Given the description of an element on the screen output the (x, y) to click on. 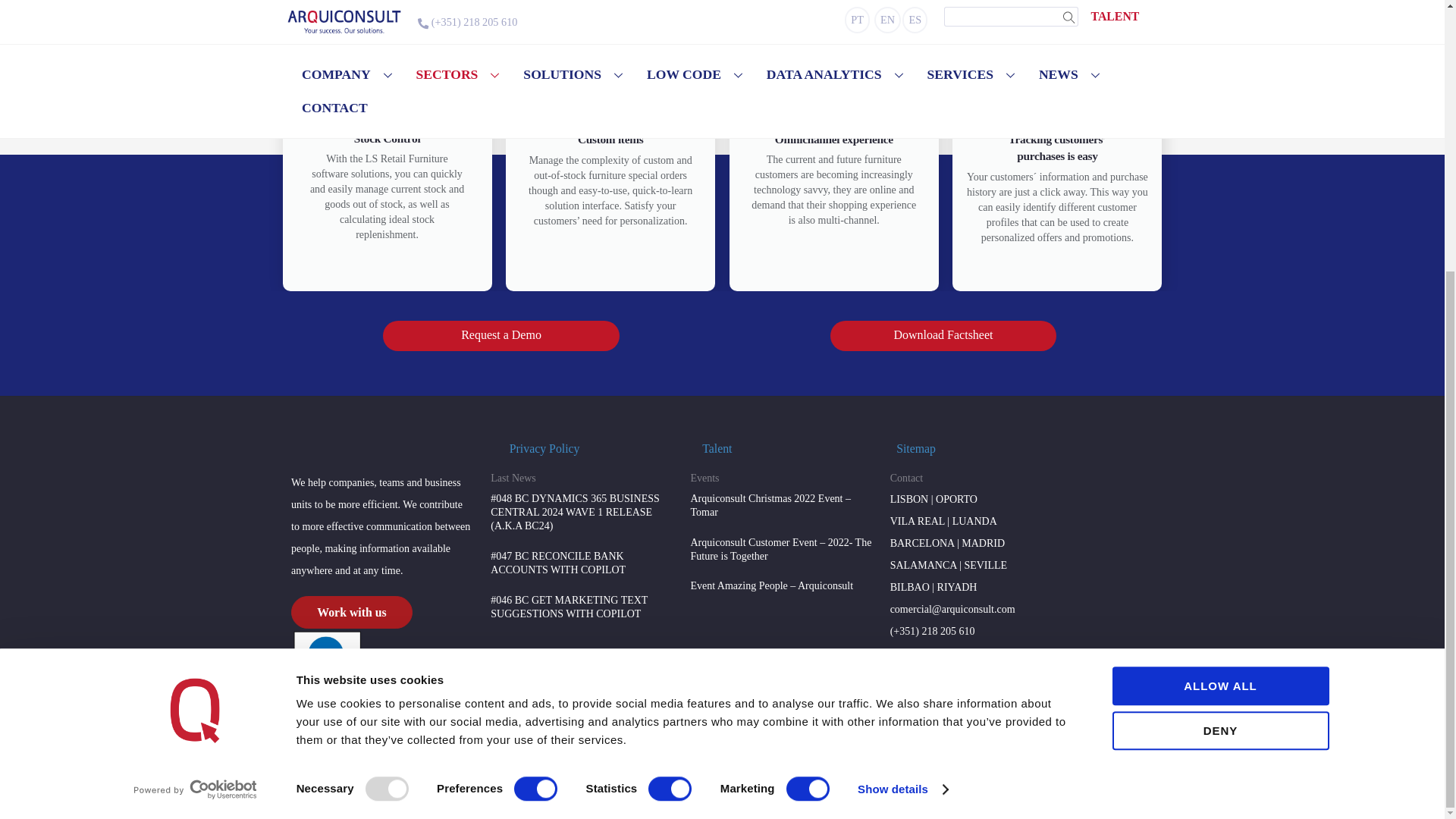
ALLOW ALL (1219, 289)
Show details (902, 392)
DENY (1219, 333)
